Given the description of an element on the screen output the (x, y) to click on. 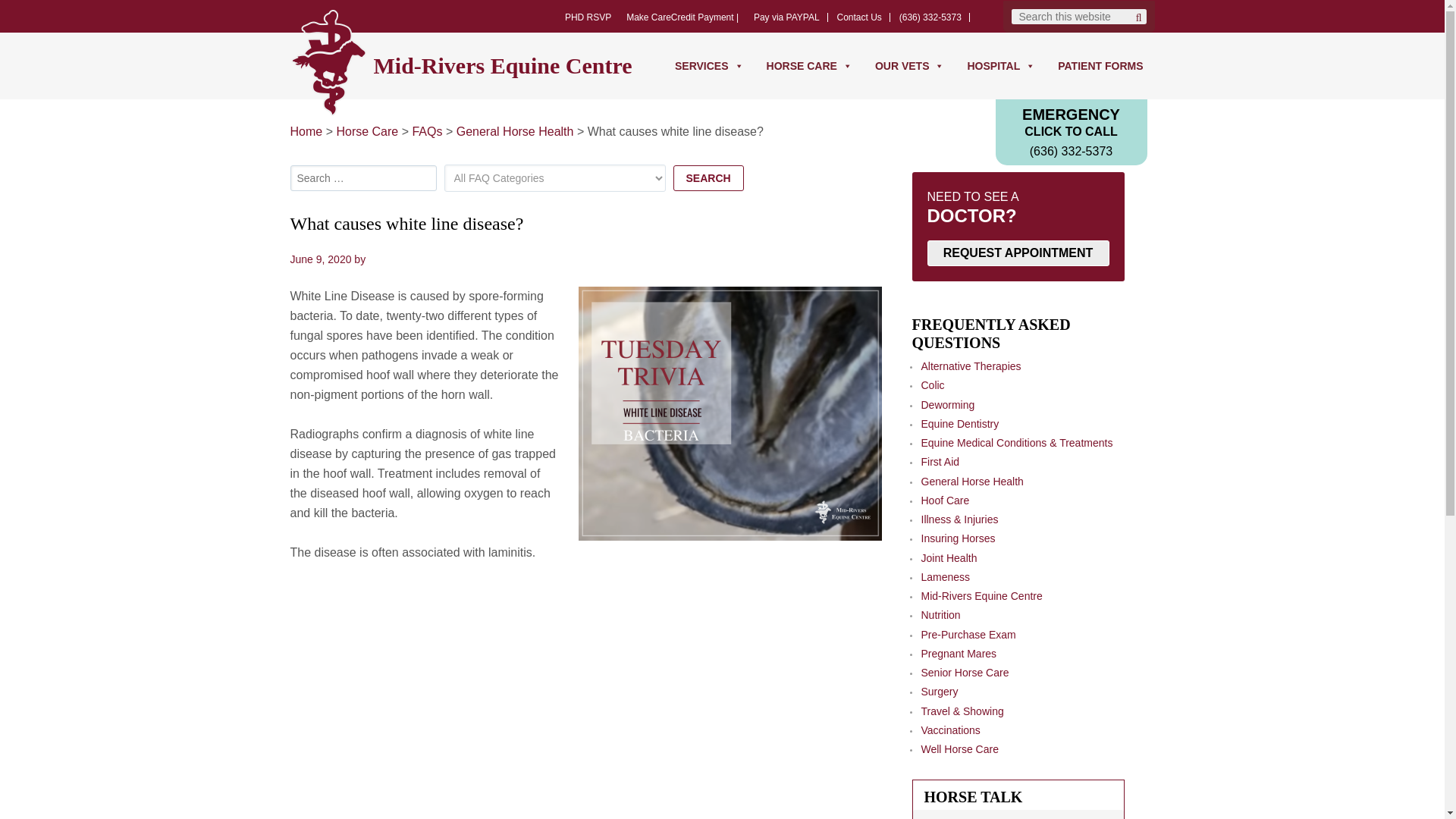
PHD RSVP (588, 17)
Go (1137, 18)
Contact Us (859, 17)
Go to Horse Care. (366, 131)
SERVICES (709, 65)
Go to the General Horse Health FAQ Category archives. (515, 131)
Pay via PAYPAL (786, 17)
Mid-Rivers Equine Centre (509, 65)
Go (1137, 18)
Go (1137, 18)
Search (708, 177)
Go to FAQs. (427, 131)
Go to Mid-Rivers Equine Centre. (305, 131)
